Given the description of an element on the screen output the (x, y) to click on. 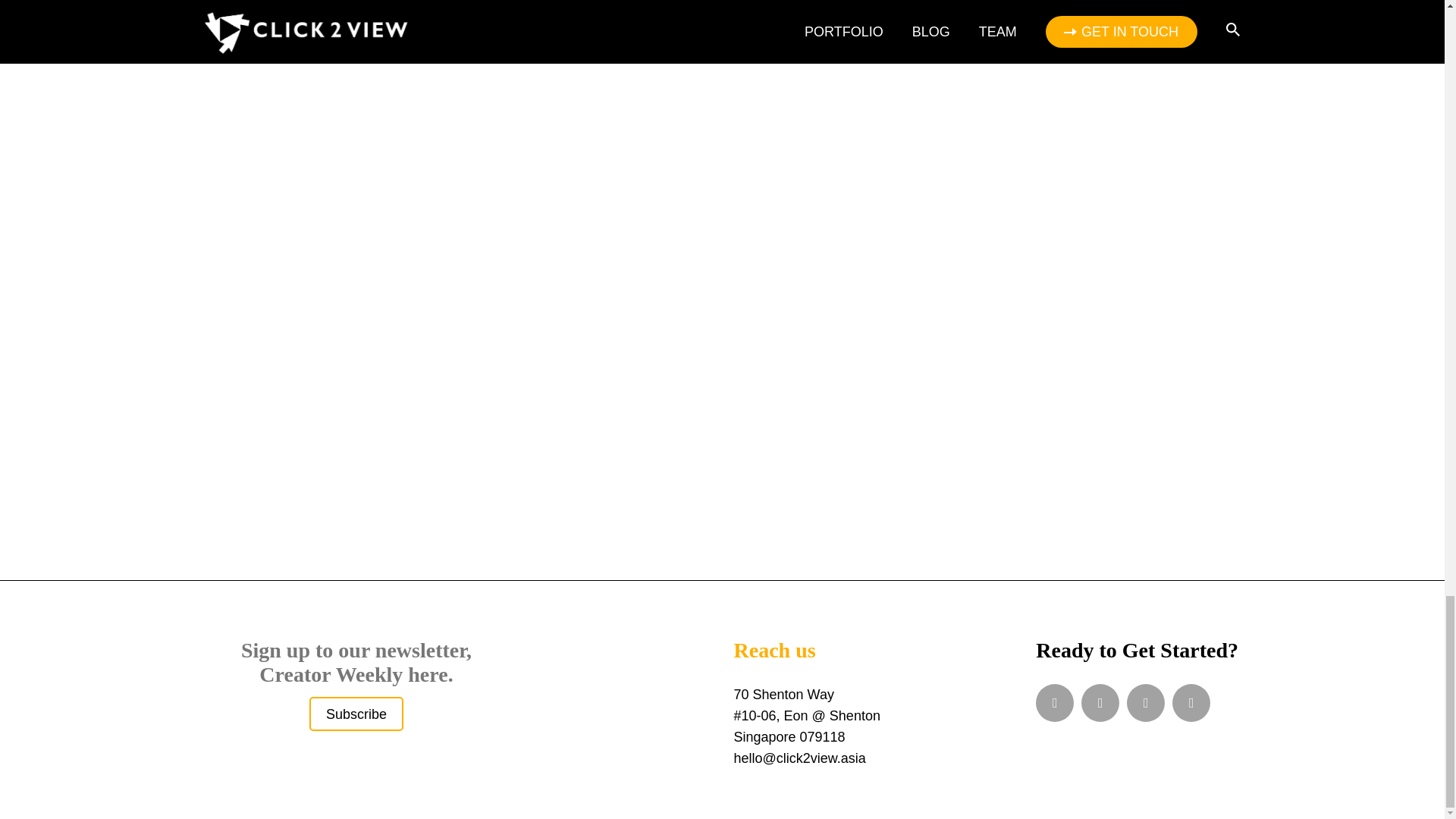
Subscribe (355, 713)
